Given the description of an element on the screen output the (x, y) to click on. 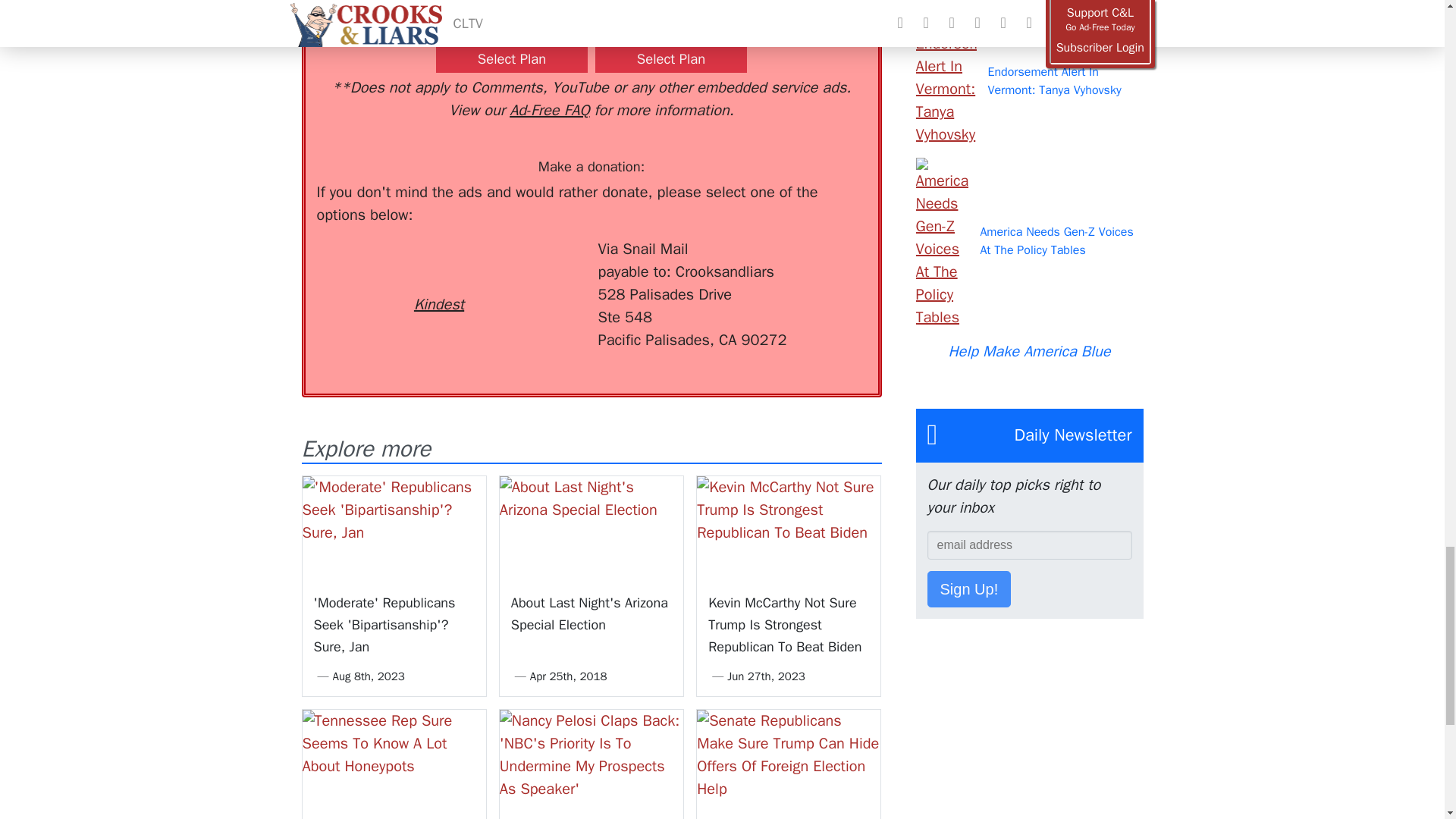
Donate via Kindest (438, 277)
Donate via PayPal (540, 265)
Ad-Free FAQ (549, 109)
'Moderate' Republicans Seek 'Bipartisanship'? Sure, Jan (384, 624)
'Moderate' Republicans Seek 'Bipartisanship'? Sure, Jan (392, 527)
